Given the description of an element on the screen output the (x, y) to click on. 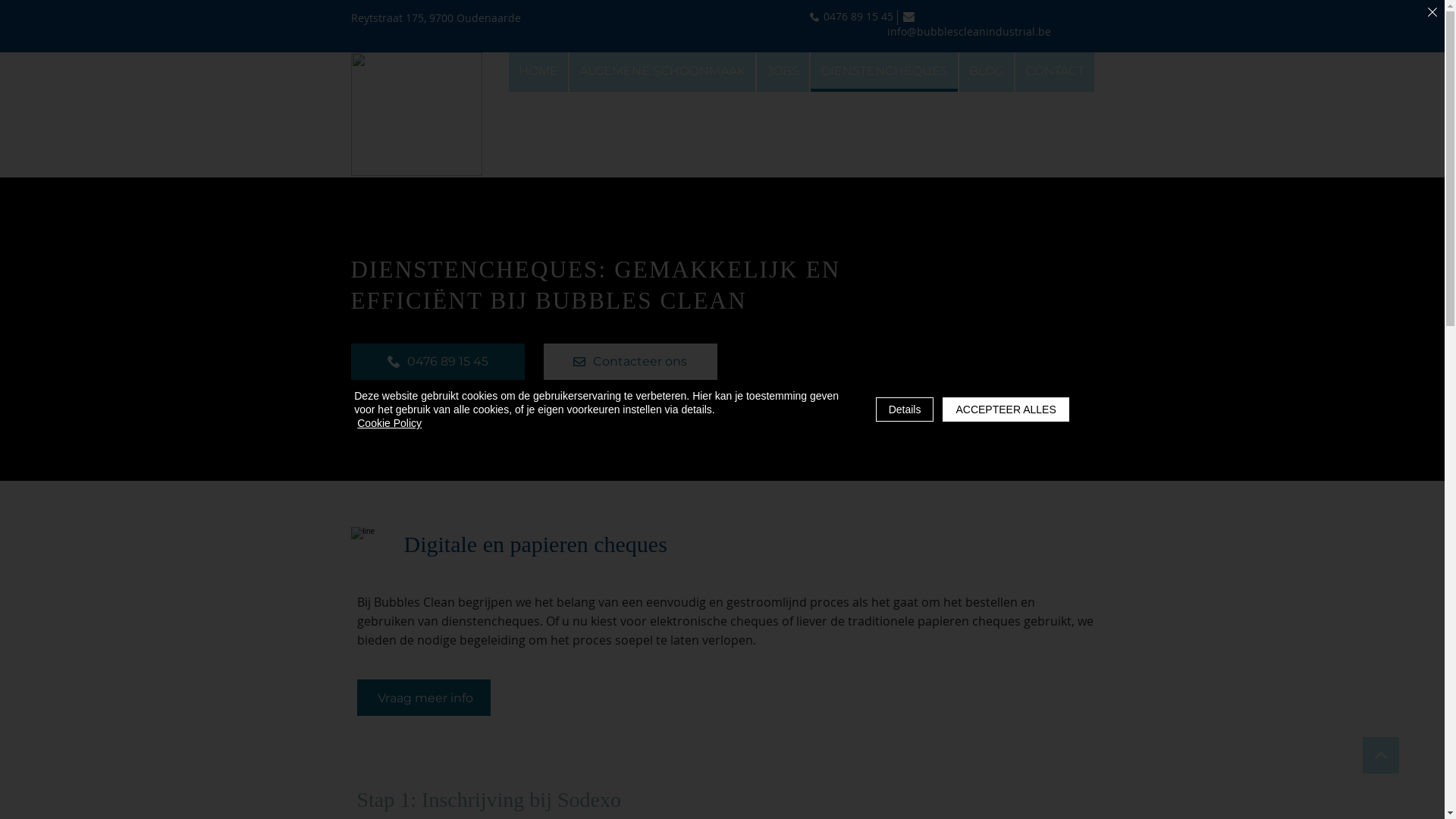
HOME Element type: text (537, 71)
Vraag meer info Element type: text (422, 697)
0476 89 15 45 Element type: text (858, 16)
Contacteer ons Element type: text (629, 361)
0476 89 15 45 Element type: text (437, 361)
CONTACT Element type: text (1053, 71)
BLOG Element type: text (985, 71)
DIENSTENCHEQUES Element type: text (883, 71)
ALGEMENE SCHOONMAAK Element type: text (661, 71)
JOBS Element type: text (782, 71)
             info@bubblescleanindustrial.be Element type: text (967, 24)
